Given the description of an element on the screen output the (x, y) to click on. 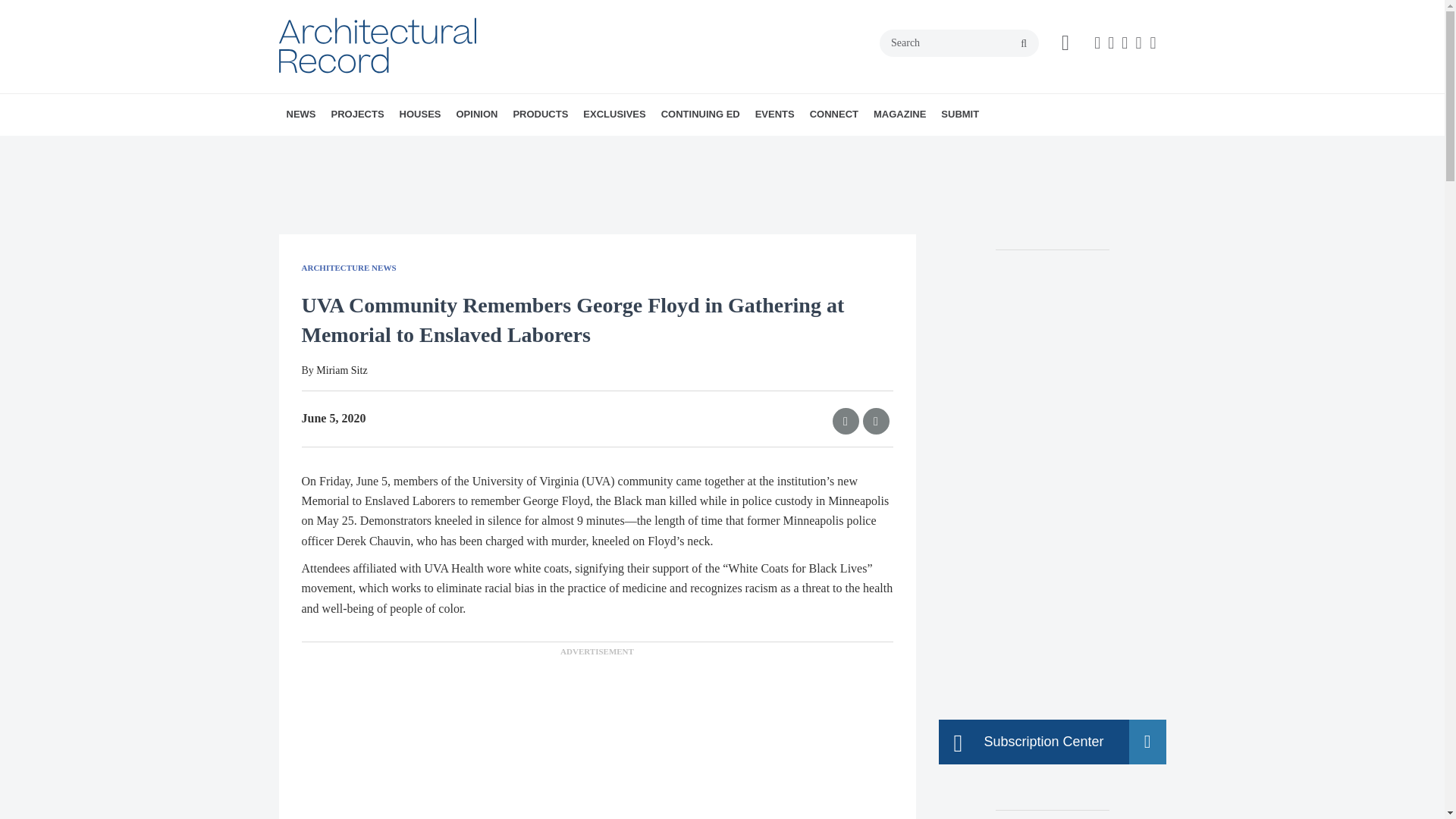
linkedin (1138, 43)
PODCASTS (397, 147)
search (1023, 43)
HOUSES (419, 114)
youtube (1153, 43)
LIGHTING (449, 147)
HOUSE OF THE MONTH (493, 147)
INTERVIEWS (386, 147)
OBITUARIES (391, 147)
EXHIBITION REVIEWS (550, 147)
twitter (1123, 43)
OPINION (476, 114)
PROJECTS (357, 114)
Search (959, 42)
RECORD HOUSES (485, 147)
